Given the description of an element on the screen output the (x, y) to click on. 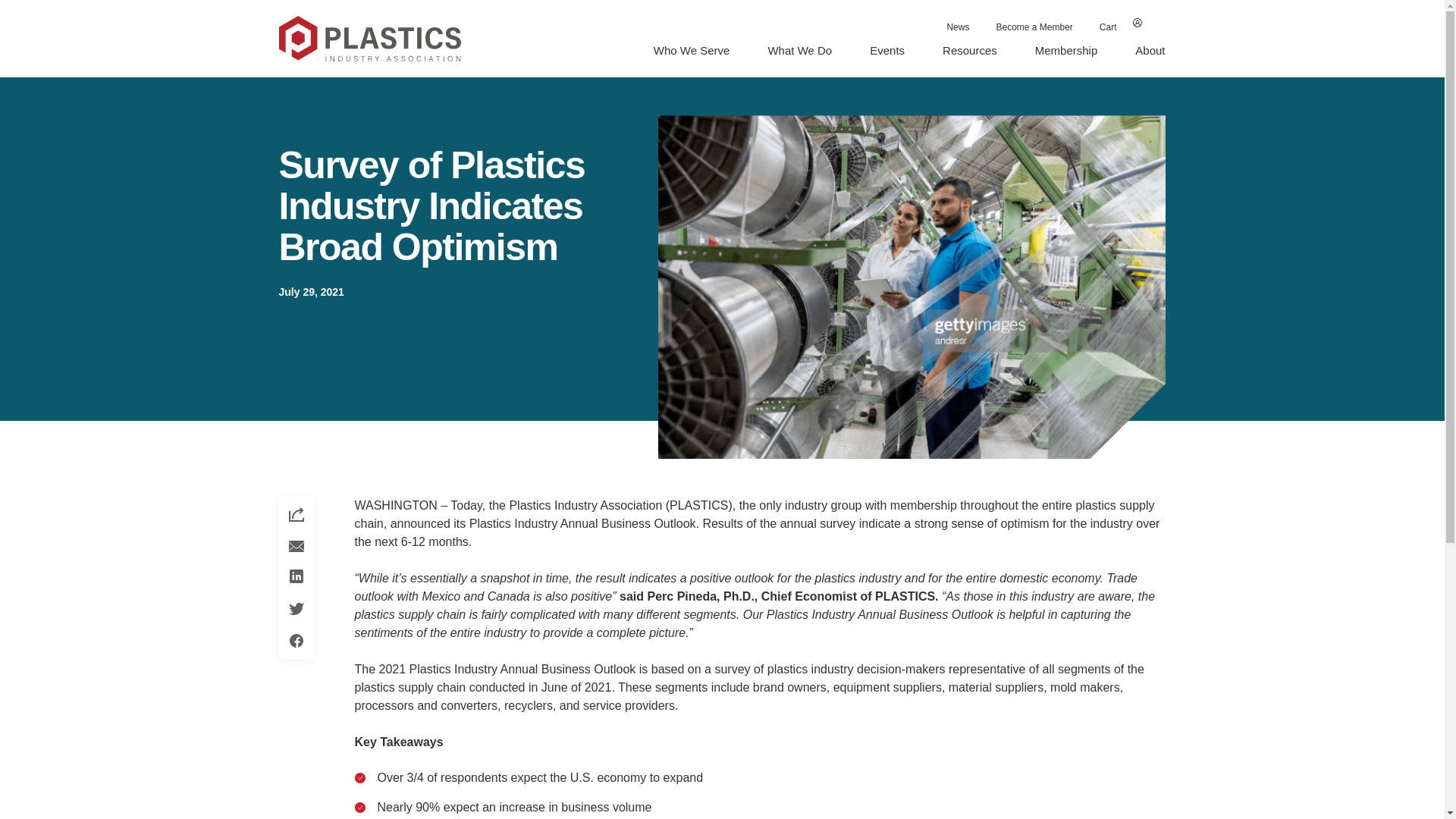
Become a Member (1034, 27)
Who We Serve (692, 50)
Twitter (295, 606)
Copy Link (295, 515)
Linkedin (295, 575)
News (957, 27)
Email (295, 545)
What We Do (800, 50)
Cart (1108, 27)
